Given the description of an element on the screen output the (x, y) to click on. 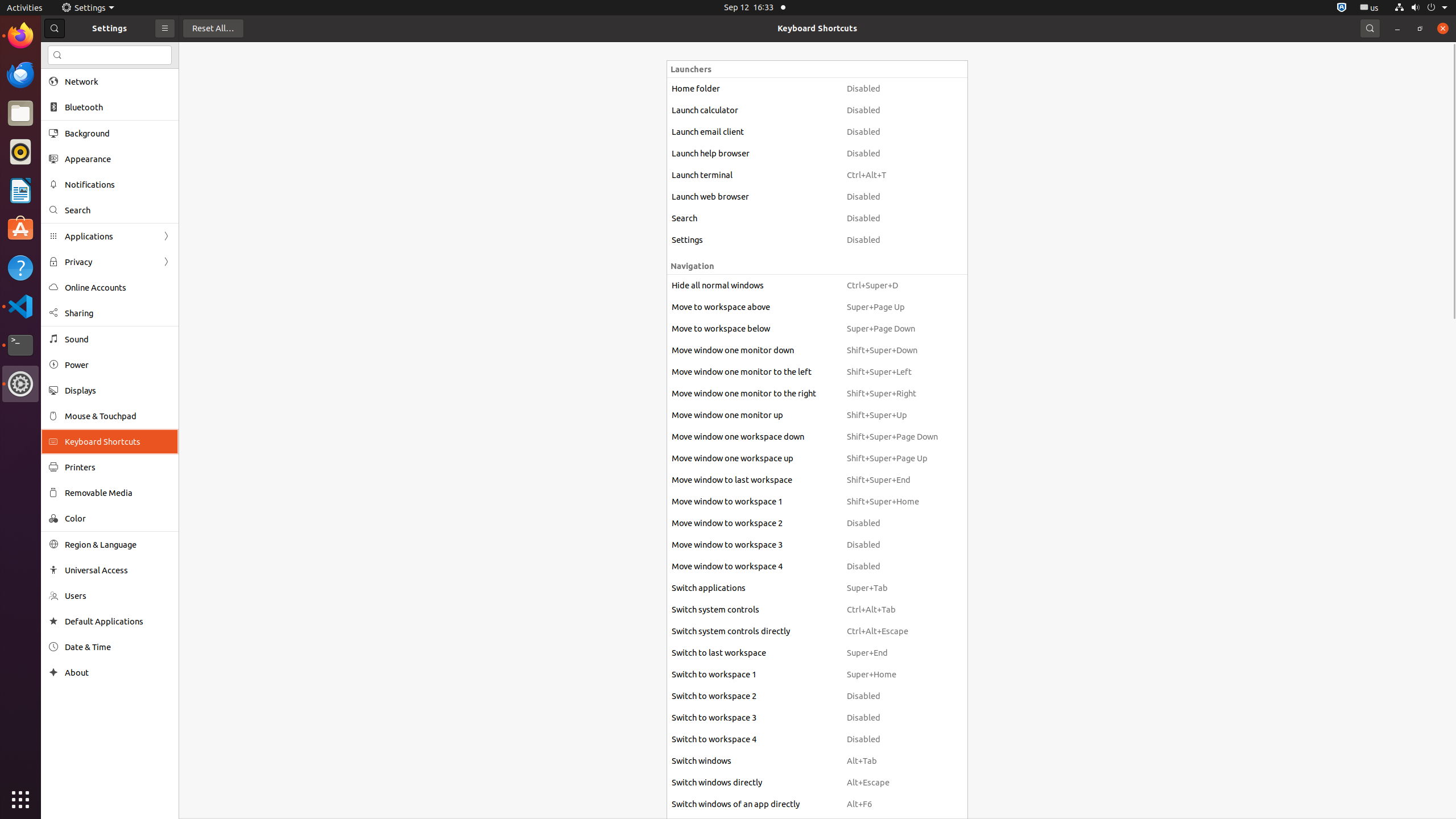
Firefox Web Browser Element type: push-button (20, 35)
Hide all normal windows Element type: label (753, 285)
Removable Media Element type: label (117, 492)
Region & Language Element type: label (117, 544)
